Given the description of an element on the screen output the (x, y) to click on. 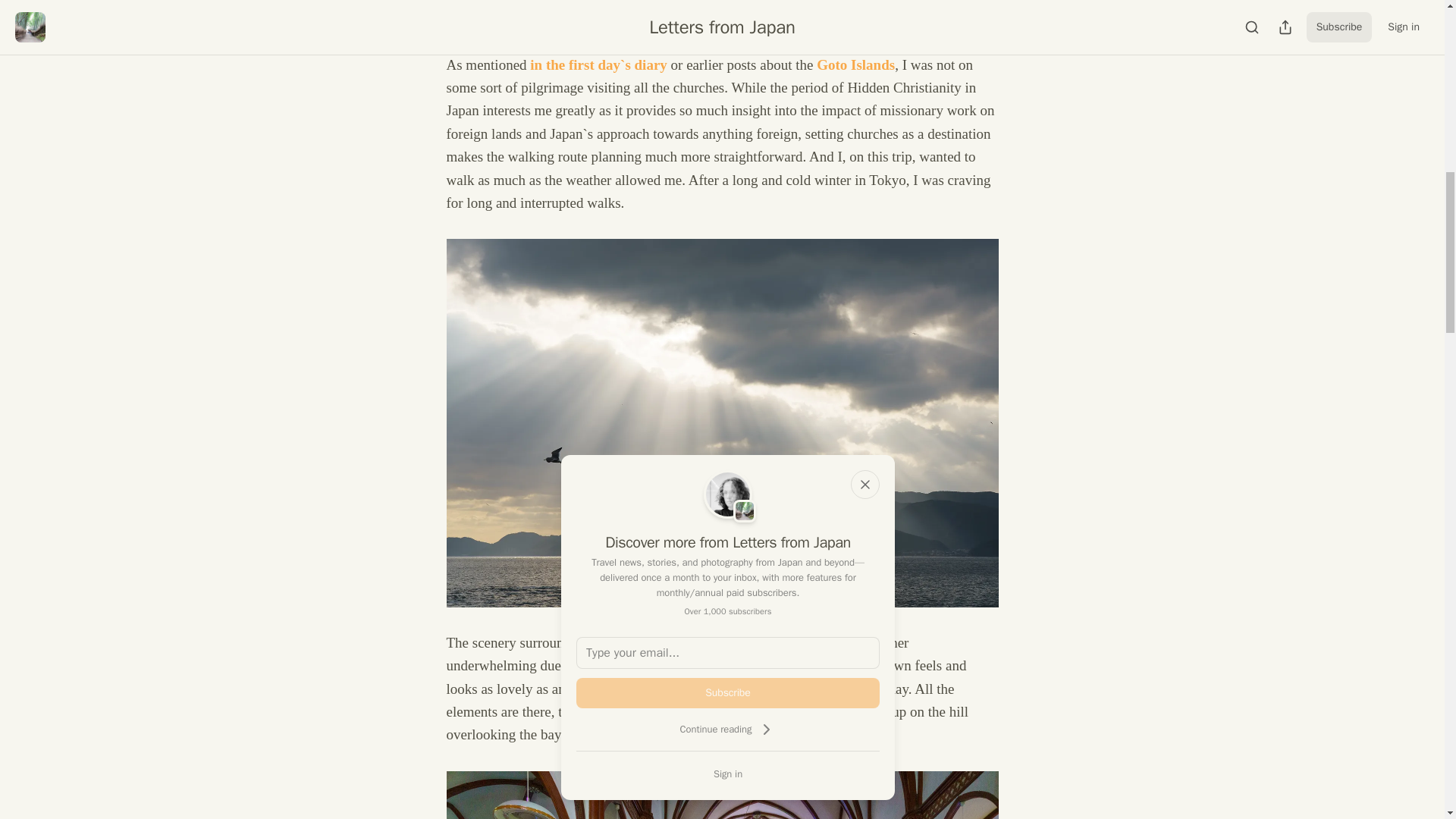
Subscribe (727, 693)
Goto Islands (855, 64)
Sign in (727, 773)
